Given the description of an element on the screen output the (x, y) to click on. 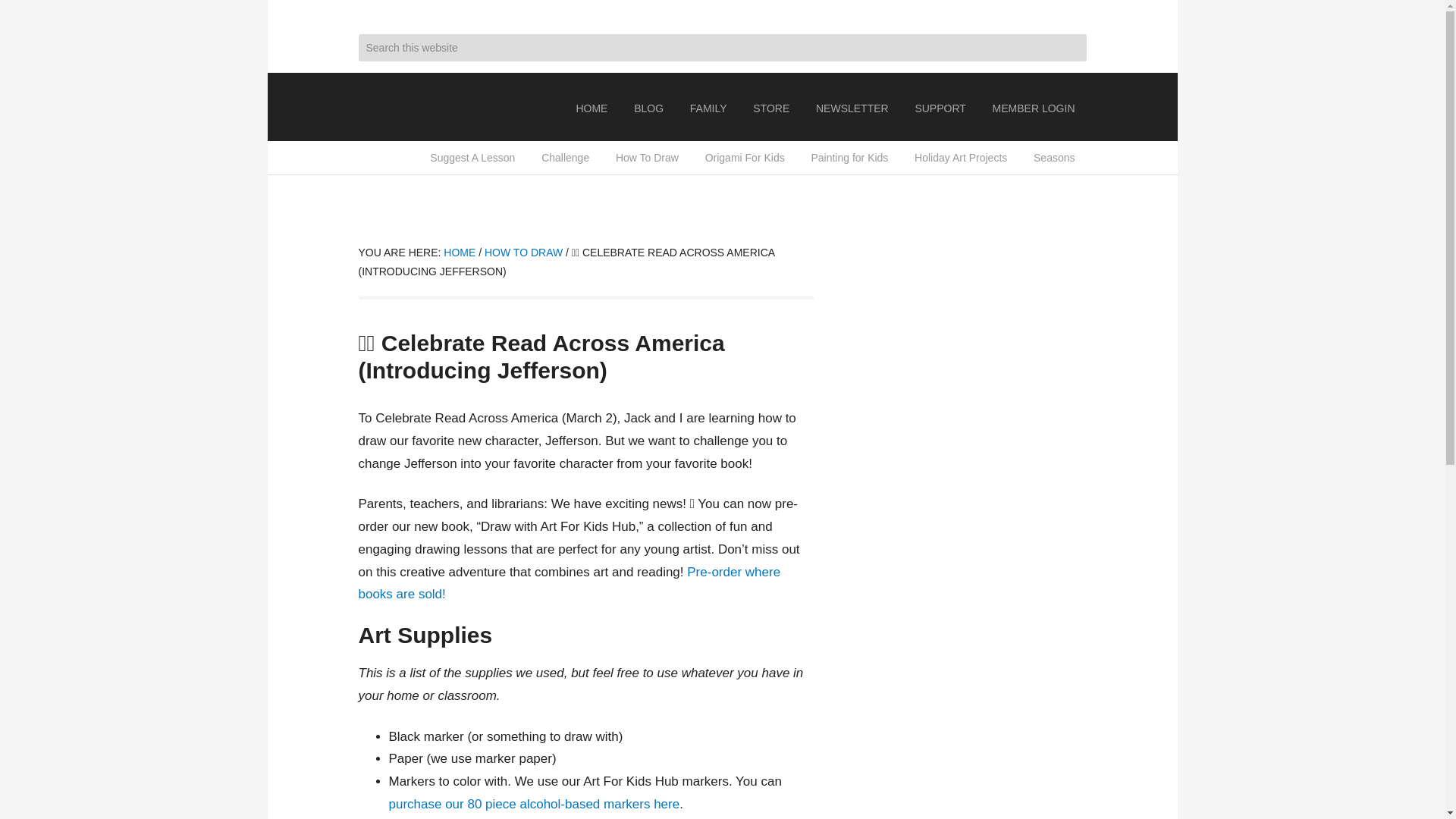
FAMILY (708, 108)
MEMBER LOGIN (1033, 108)
How To Draw (647, 157)
ART FOR KIDS HUB (433, 106)
BLOG (649, 108)
NEWSLETTER (852, 108)
STORE (770, 108)
Challenge (564, 157)
SUPPORT (939, 108)
HOME (591, 108)
Suggest A Lesson (472, 157)
